Given the description of an element on the screen output the (x, y) to click on. 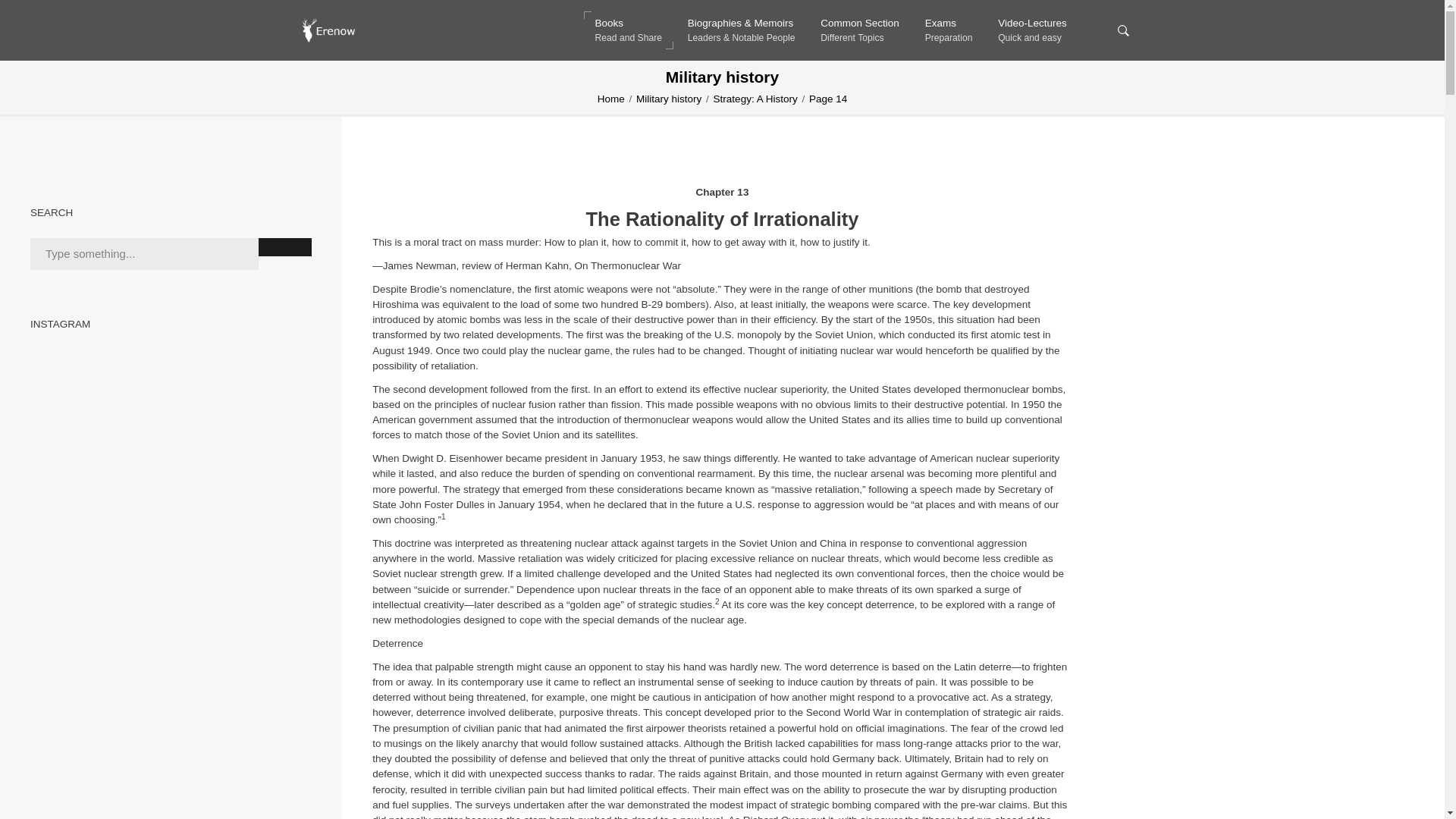
Strategy: A History (627, 30)
Home (755, 98)
Military history (860, 30)
